Given the description of an element on the screen output the (x, y) to click on. 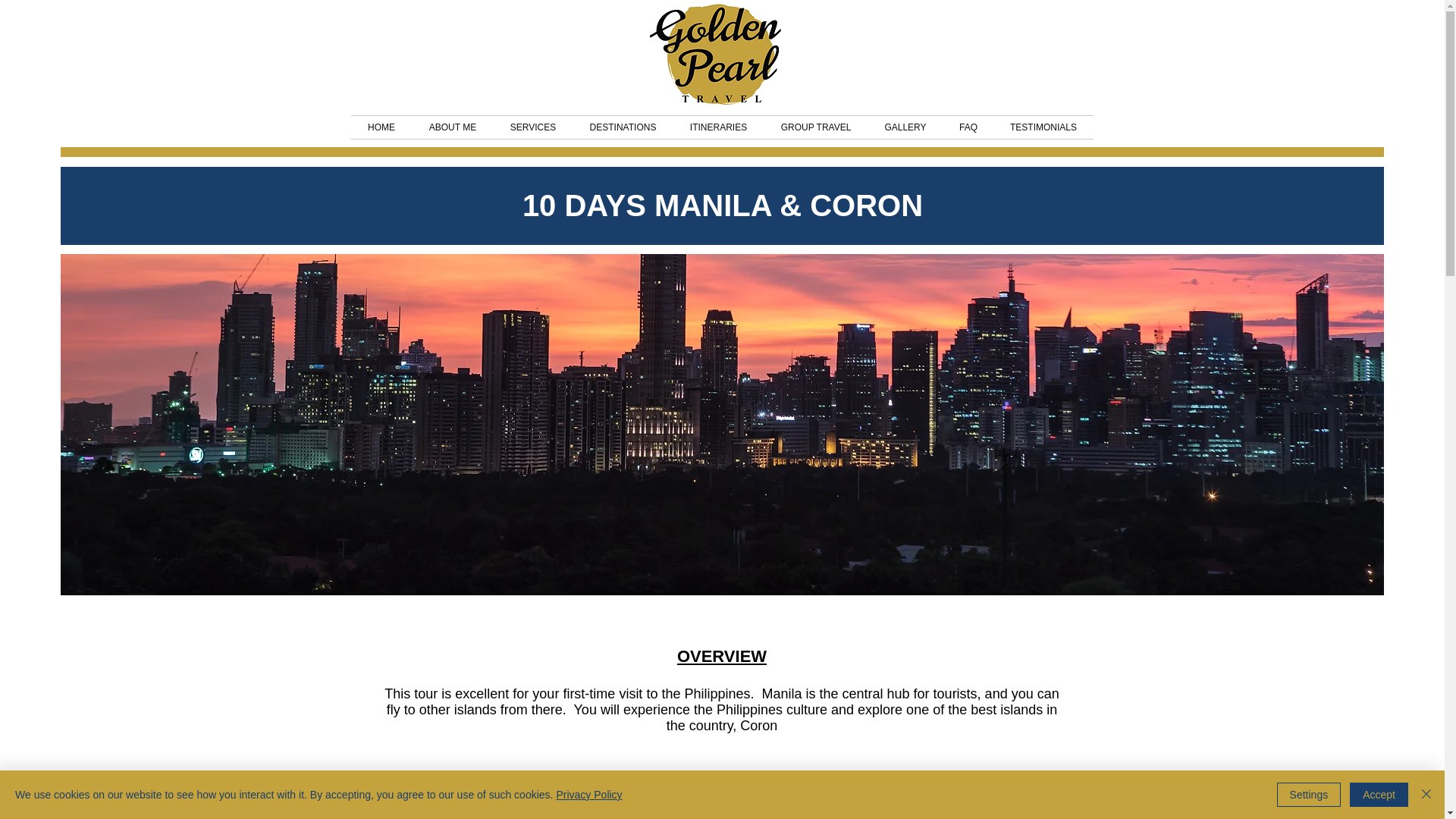
TESTIMONIALS (1042, 127)
GALLERY (904, 127)
HOME (381, 127)
FAQ (968, 127)
GROUP TRAVEL (815, 127)
SERVICES (532, 127)
ABOUT ME (452, 127)
